Given the description of an element on the screen output the (x, y) to click on. 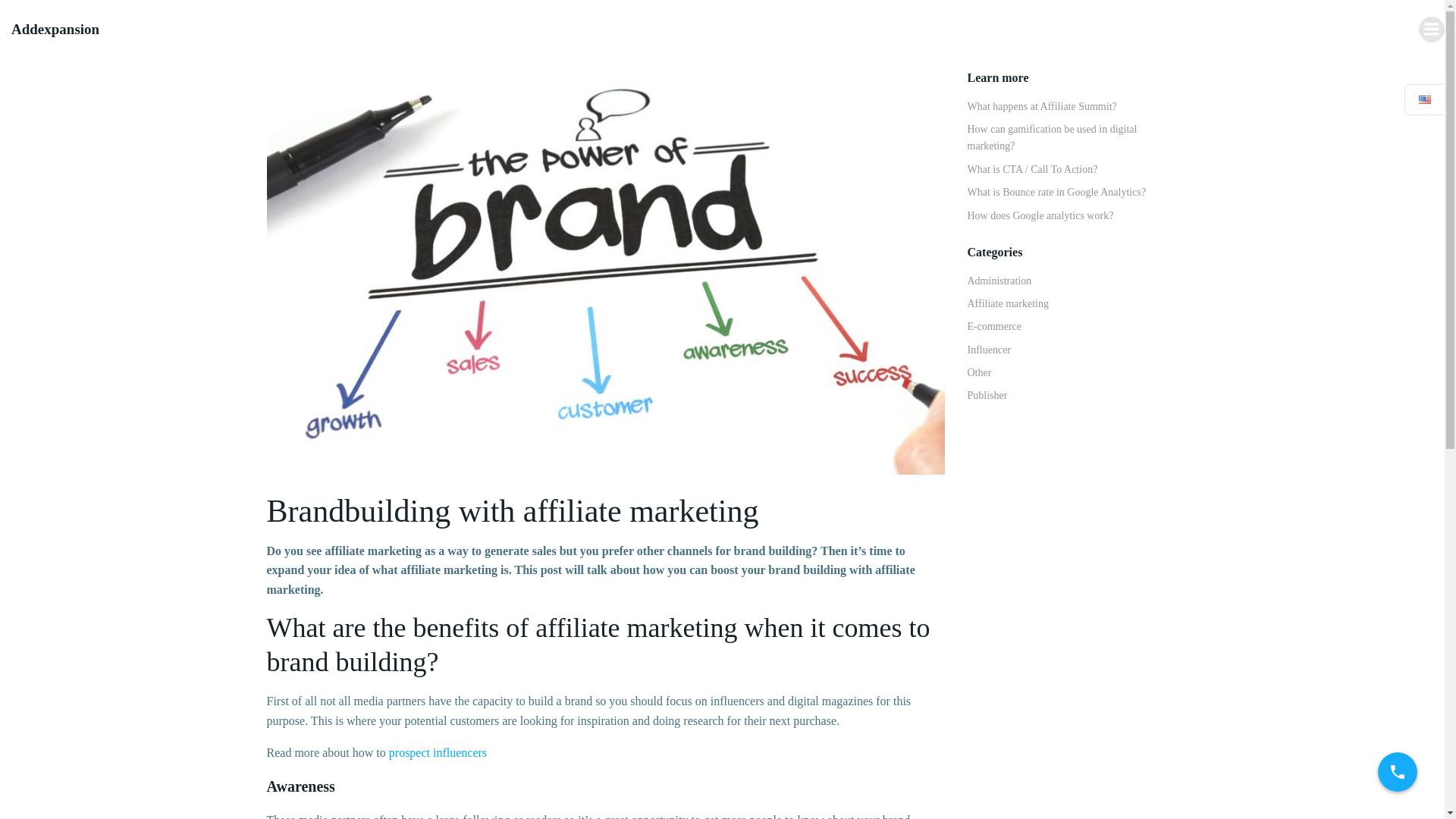
How does Google analytics work? (1040, 215)
prospect influencers (437, 752)
How can gamification be used in digital marketing? (1052, 137)
Administration (1000, 280)
Influencer (989, 349)
Affiliate marketing (1008, 303)
What happens at Affiliate Summit? (1042, 106)
Addexpansion (55, 29)
Other (979, 372)
What is Bounce rate in Google Analytics? (1057, 192)
E-commerce (995, 326)
Publisher (987, 395)
